Given the description of an element on the screen output the (x, y) to click on. 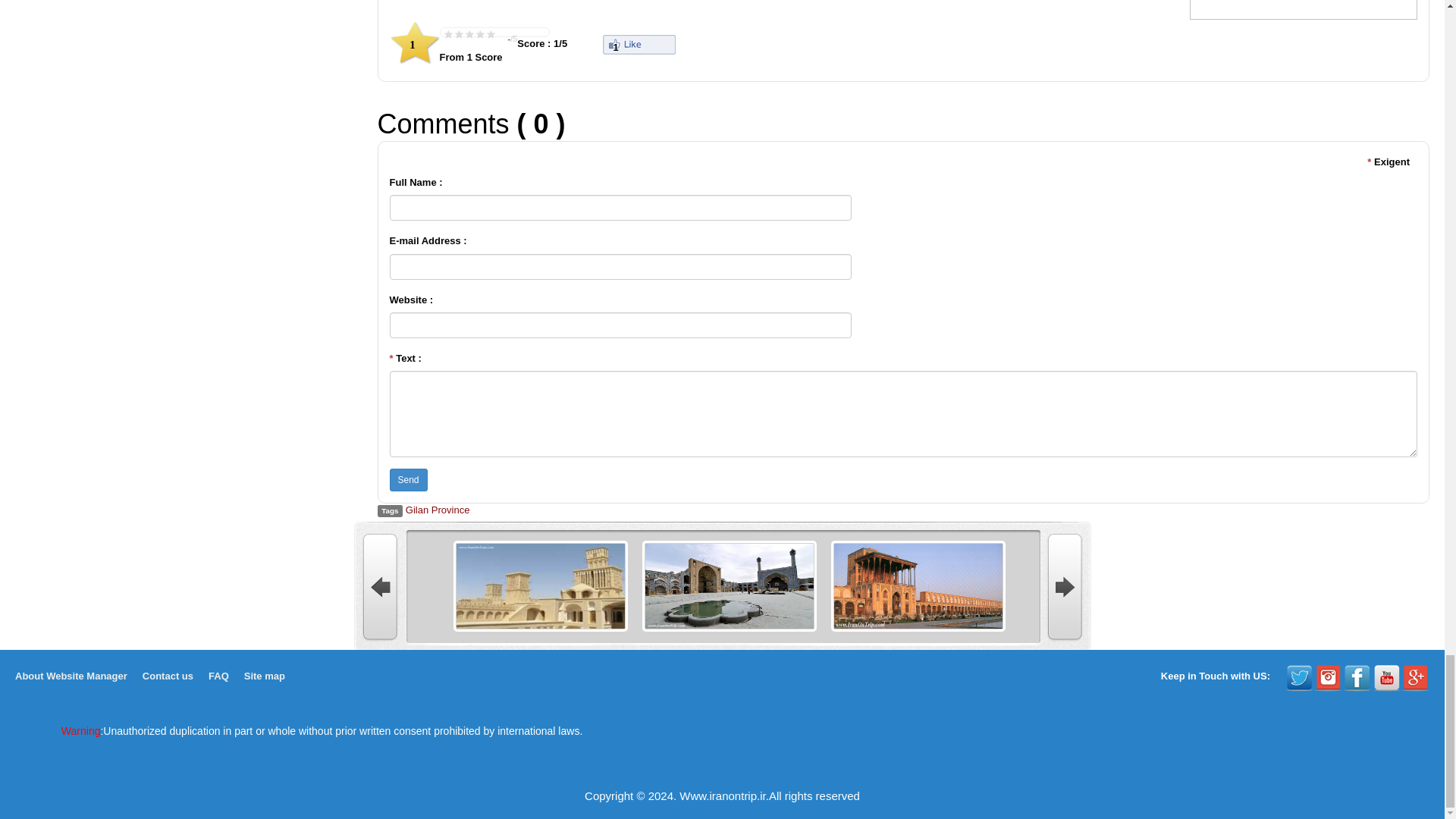
  Send   (409, 479)
